Given the description of an element on the screen output the (x, y) to click on. 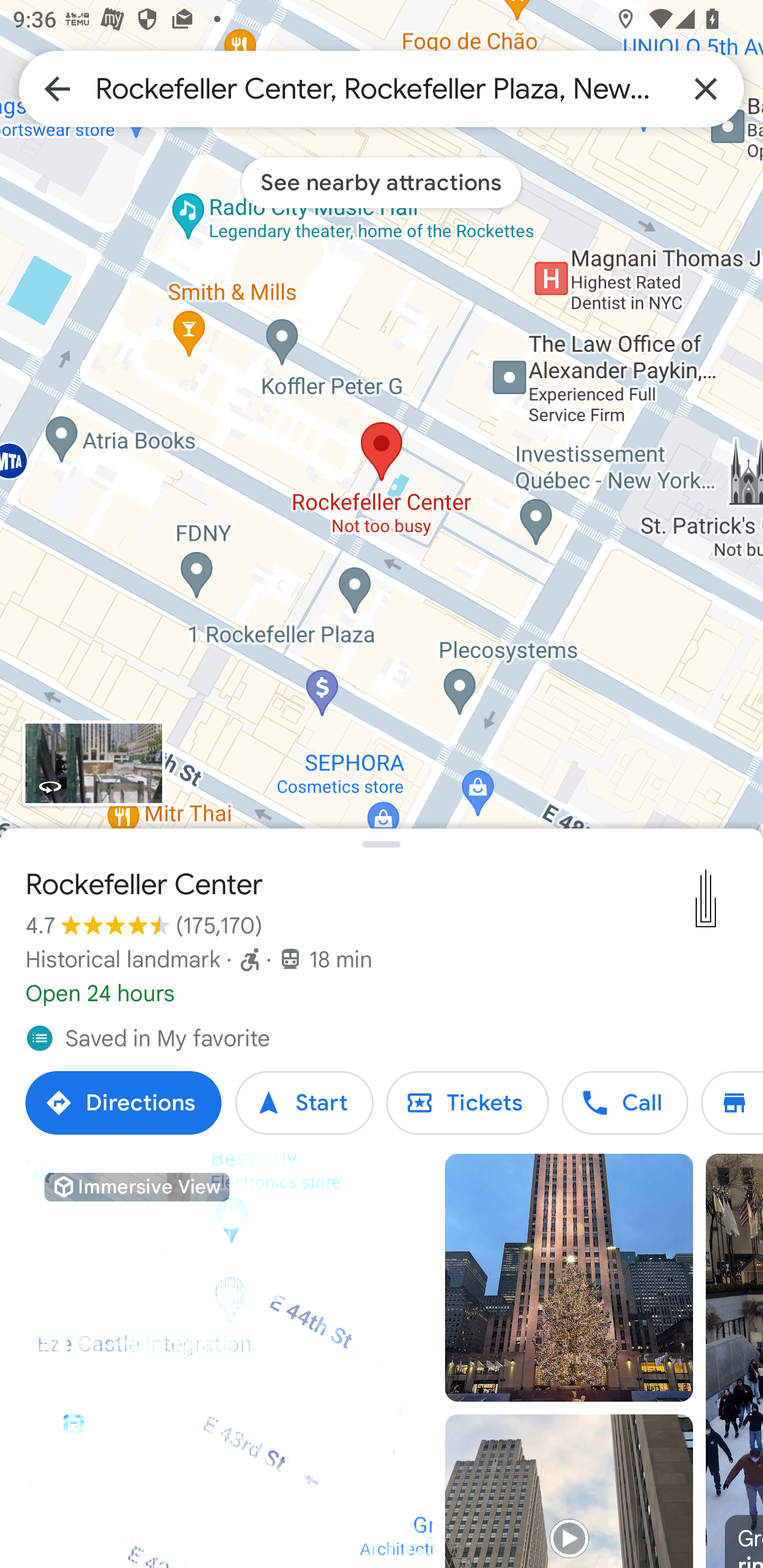
Back (57, 88)
Clear (705, 88)
See nearby attractions (381, 182)
View Street view imagery for Rockefeller Center (93, 762)
Start Start Start (304, 1102)
Tickets (467, 1102)
Directory Directory Directory (732, 1102)
Video Immersive View (228, 1361)
Photo (568, 1277)
Video (568, 1491)
